Given the description of an element on the screen output the (x, y) to click on. 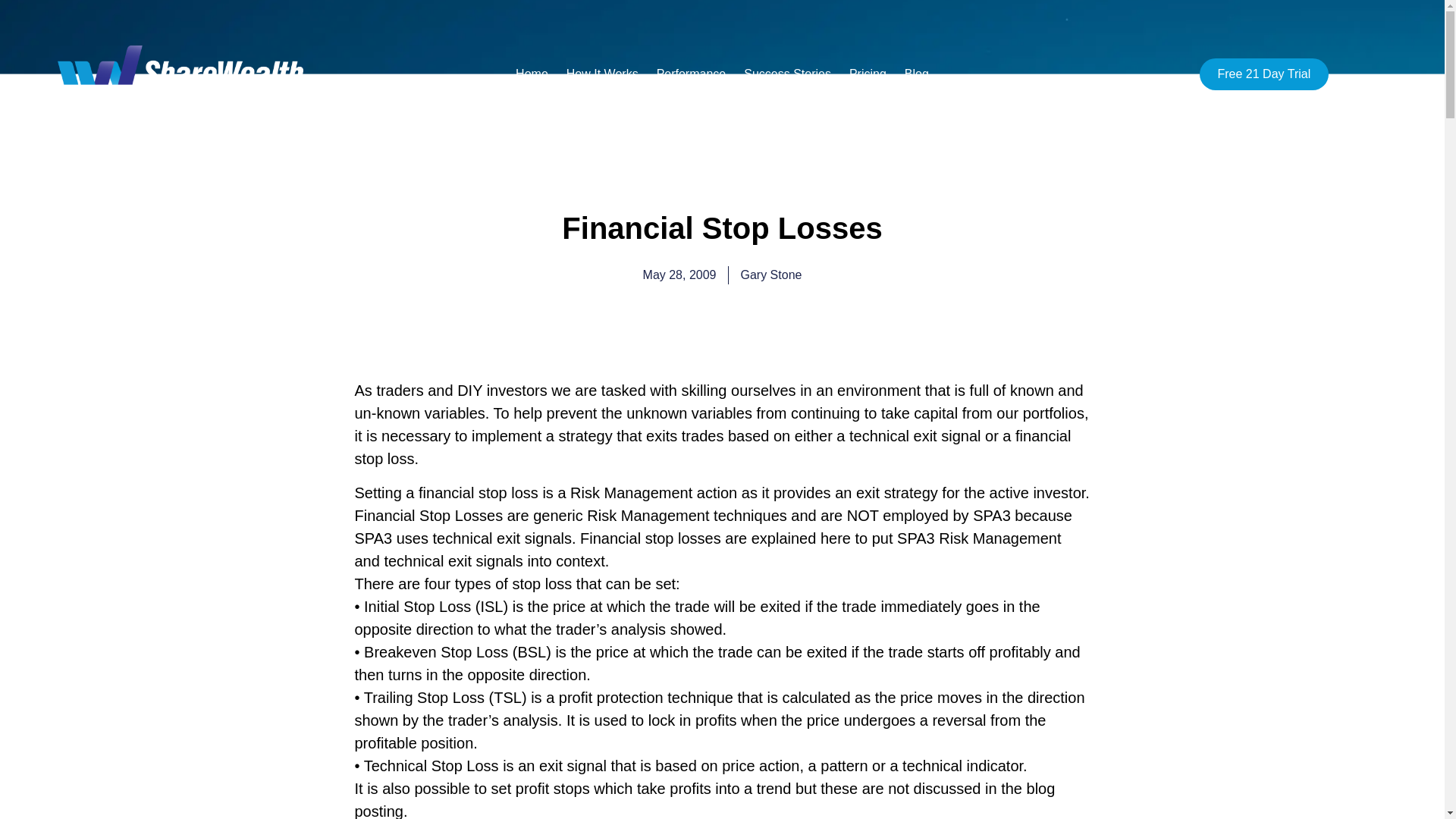
Free 21 Day Trial (1264, 74)
Performance (691, 73)
How It Works (602, 73)
Pricing (867, 73)
Home (531, 73)
Gary Stone (770, 275)
May 28, 2009 (679, 275)
Success Stories (787, 73)
Blog (916, 73)
